Given the description of an element on the screen output the (x, y) to click on. 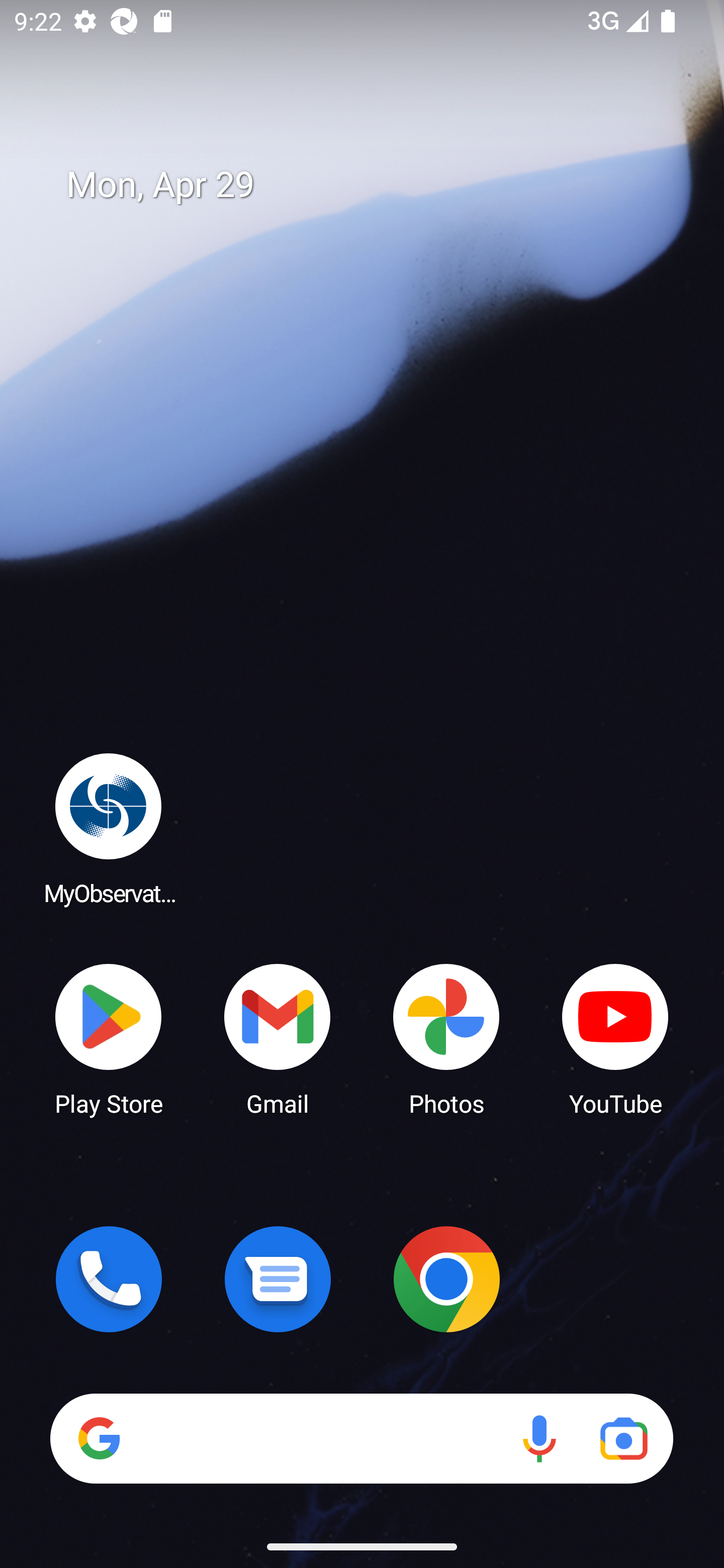
Mon, Apr 29 (375, 184)
MyObservatory (108, 828)
Play Store (108, 1038)
Gmail (277, 1038)
Photos (445, 1038)
YouTube (615, 1038)
Phone (108, 1279)
Messages (277, 1279)
Chrome (446, 1279)
Voice search (539, 1438)
Google Lens (623, 1438)
